Given the description of an element on the screen output the (x, y) to click on. 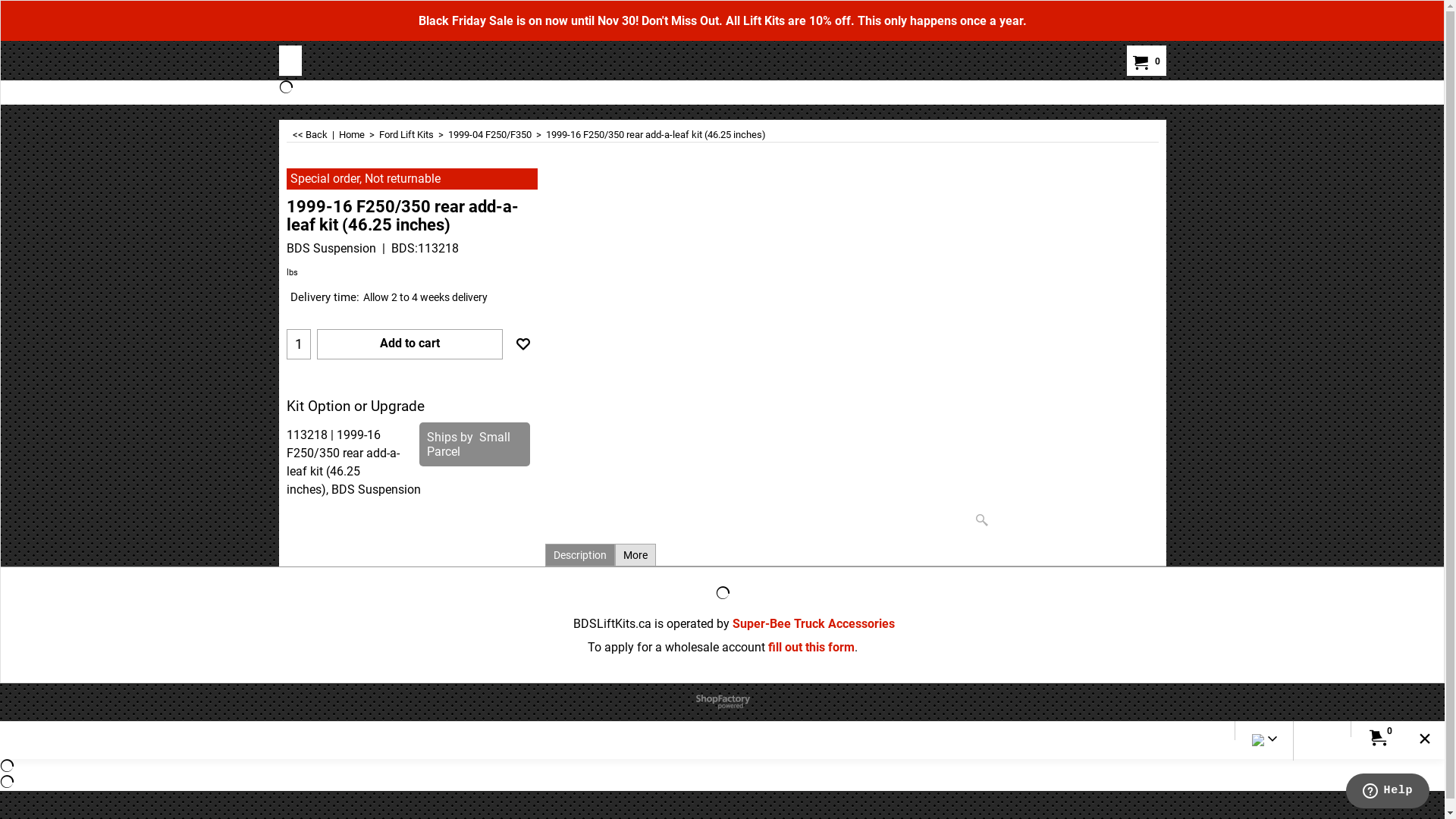
0 Element type: text (1377, 738)
 << Back  Element type: text (309, 134)
fill out this form Element type: text (808, 647)
More Element type: text (635, 555)
Ford Lift Kits  >  Element type: text (413, 134)
English Element type: hover (1257, 742)
1 Element type: text (297, 343)
1999-04 F250/F350  >  Element type: text (496, 134)
Opens a widget where you can chat to one of our agents Element type: hover (1387, 792)
0 Element type: text (1143, 61)
Home  >  Element type: text (358, 134)
Super-Bee Truck Accessories Element type: text (813, 623)
To apply for a wholesale account Element type: text (675, 647)
Description Element type: text (579, 555)
Add to cart Element type: text (408, 343)
BDSliftKits.ca Element type: hover (290, 60)
1999-16 F250/350 rear add-a-leaf kit (46.25 inches) Element type: hover (854, 351)
Favorites Element type: hover (522, 343)
1999-16 F250/350 rear add-a-leaf kit (46.25 inches) Element type: text (411, 230)
